Given the description of an element on the screen output the (x, y) to click on. 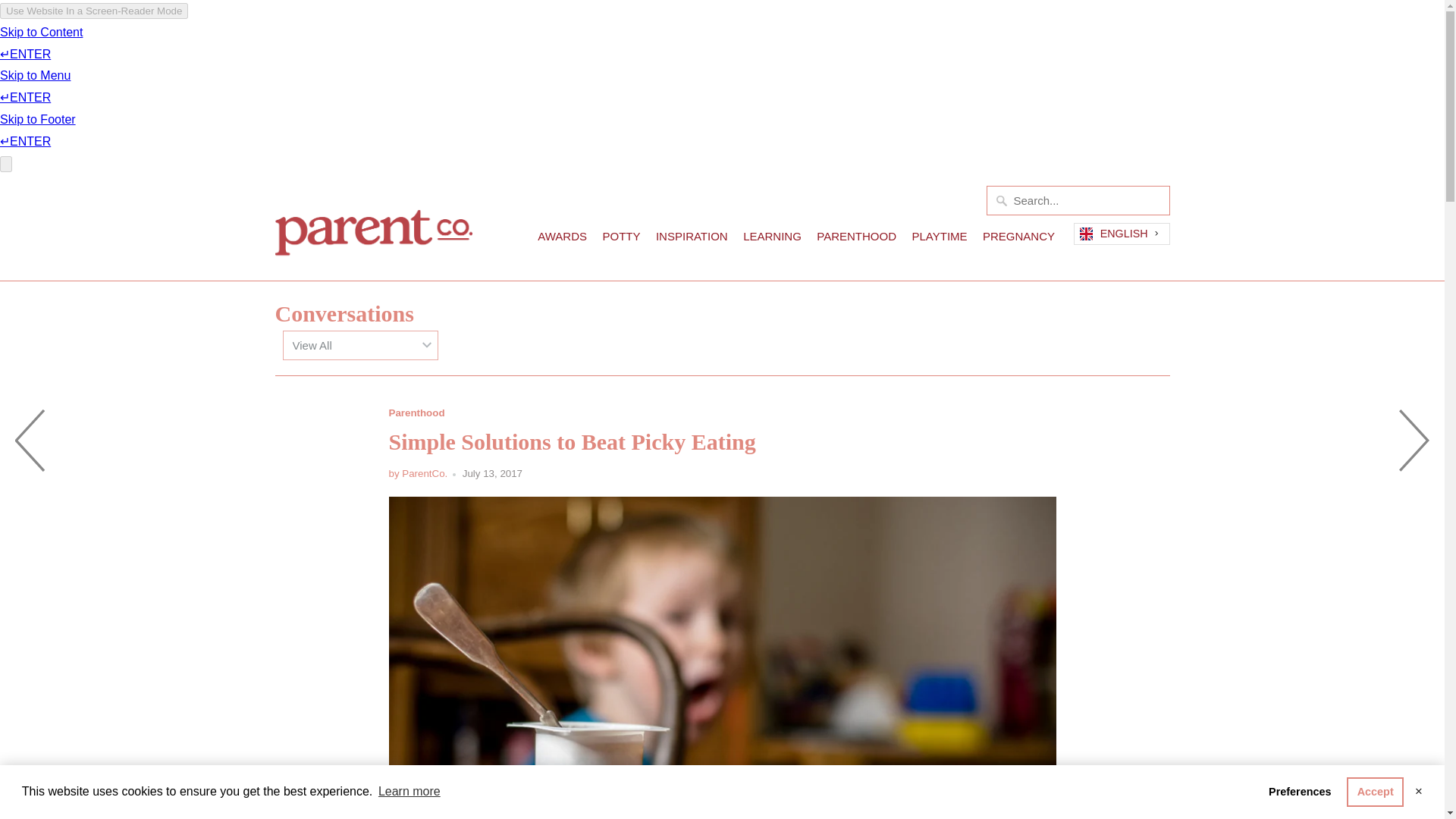
POTTY (621, 240)
PARENTHOOD (856, 240)
Accept (1374, 791)
ParentCo. (373, 227)
Learn more (408, 791)
Conversations (344, 313)
PLAYTIME (938, 240)
Conversations (344, 313)
by ParentCo. (417, 473)
LEARNING (772, 240)
INSPIRATION (692, 240)
PREGNANCY (1018, 240)
Parenthood (416, 412)
ENGLISH (1121, 233)
AWARDS (561, 240)
